Given the description of an element on the screen output the (x, y) to click on. 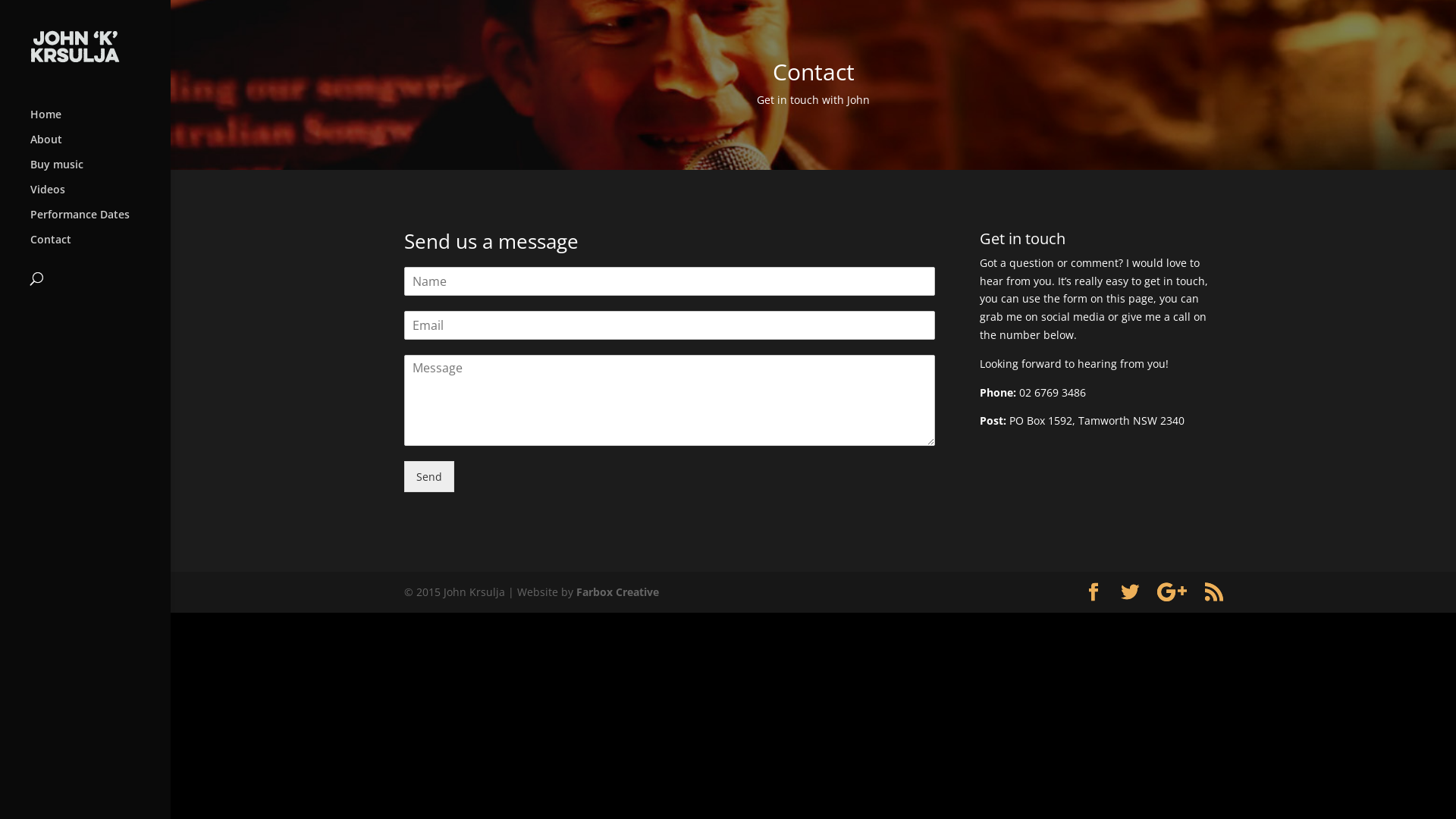
Contact Element type: text (100, 246)
Farbox Creative Element type: text (617, 591)
Buy music Element type: text (100, 171)
Send Element type: text (428, 476)
About Element type: text (100, 146)
Home Element type: text (100, 121)
Videos Element type: text (100, 196)
Performance Dates Element type: text (100, 221)
